Given the description of an element on the screen output the (x, y) to click on. 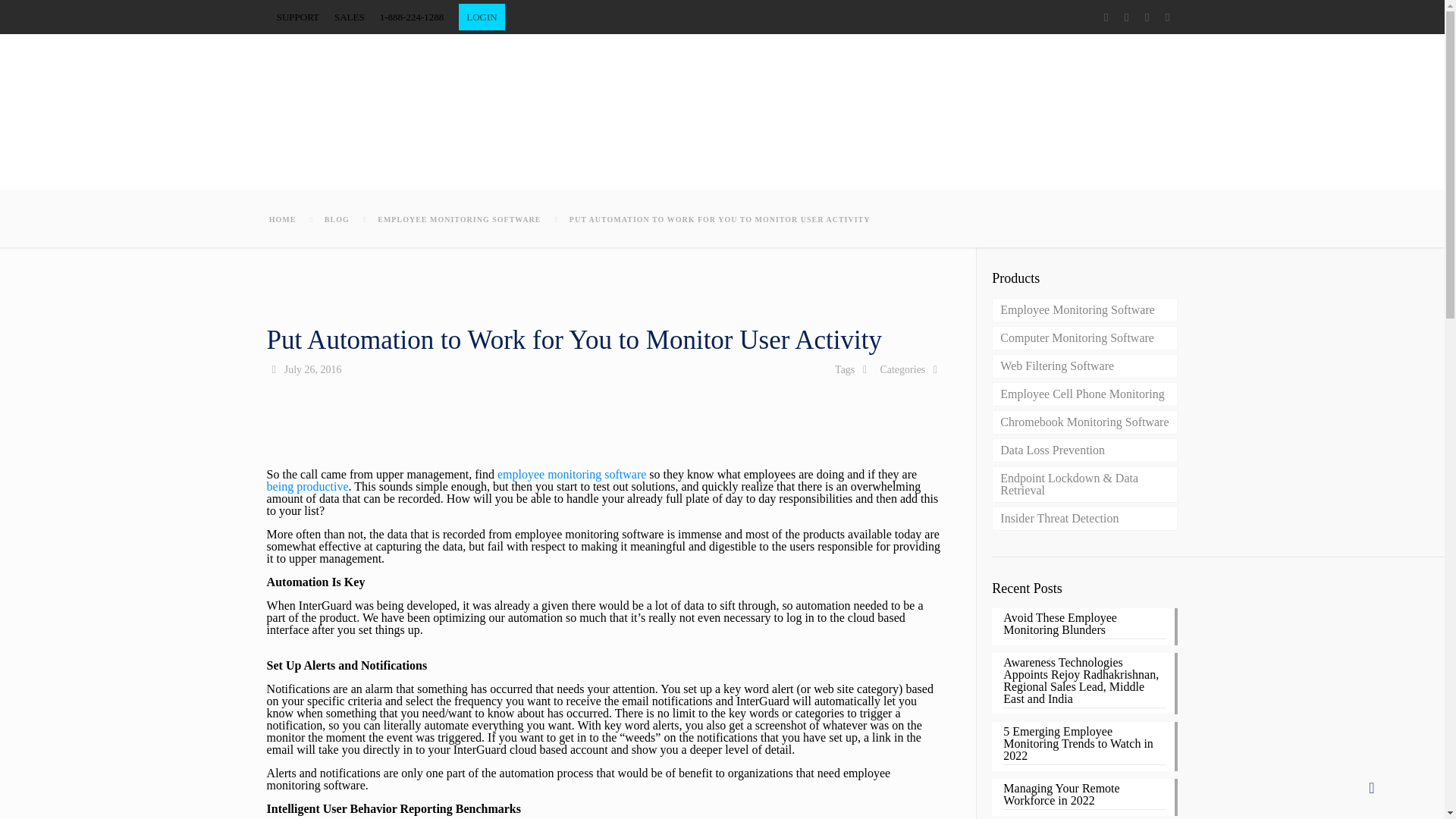
SUPPORT (297, 16)
Facebook (1105, 17)
YouTube (1146, 17)
LinkedIn (1166, 17)
1-888-224-1288 (412, 16)
LOGIN (480, 17)
SALES (349, 16)
Twitter (1126, 17)
